Given the description of an element on the screen output the (x, y) to click on. 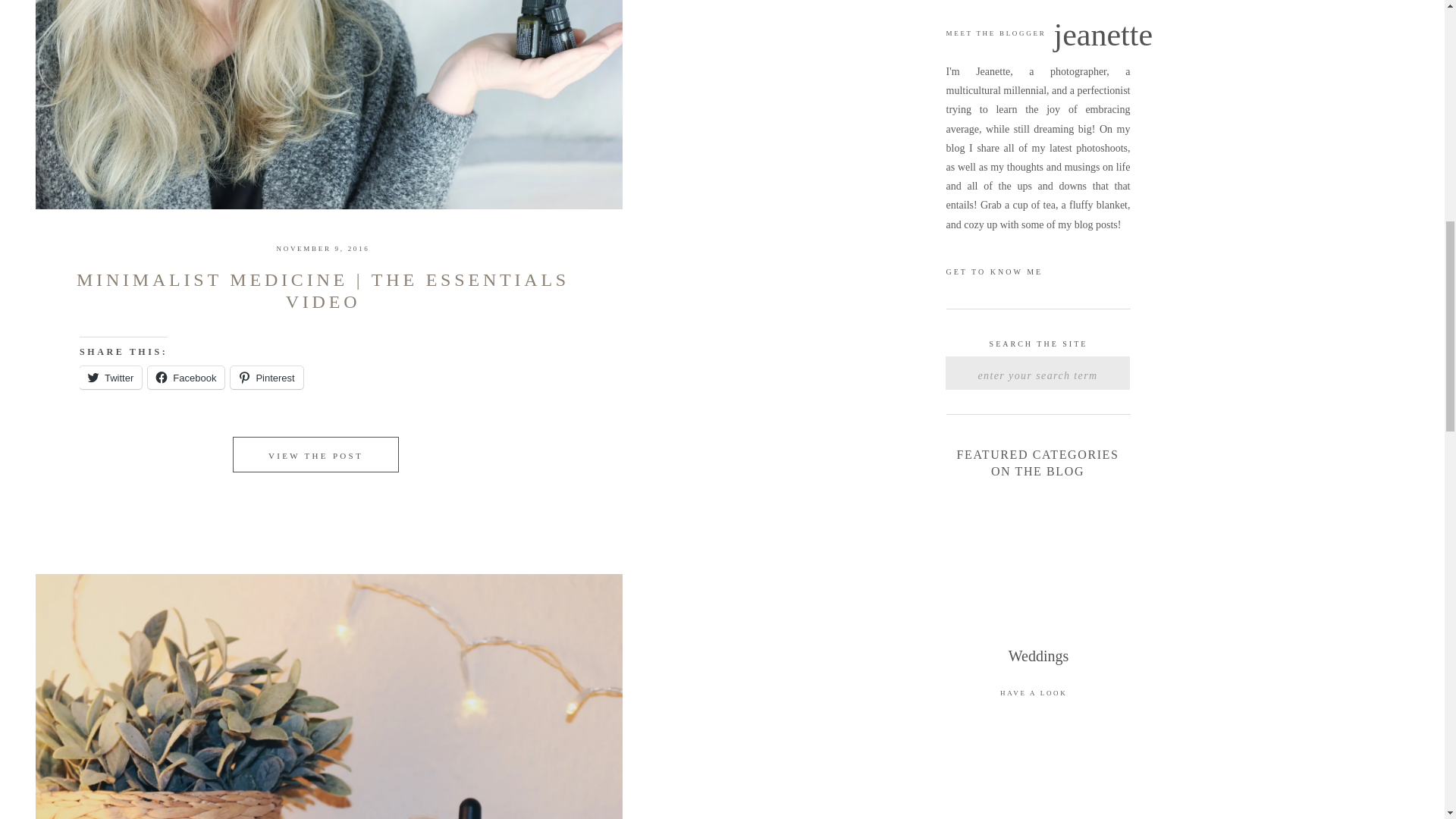
Click to share on Twitter (110, 377)
Click to share on Pinterest (266, 377)
Weddings (1038, 663)
Click to share on Facebook (186, 377)
